Given the description of an element on the screen output the (x, y) to click on. 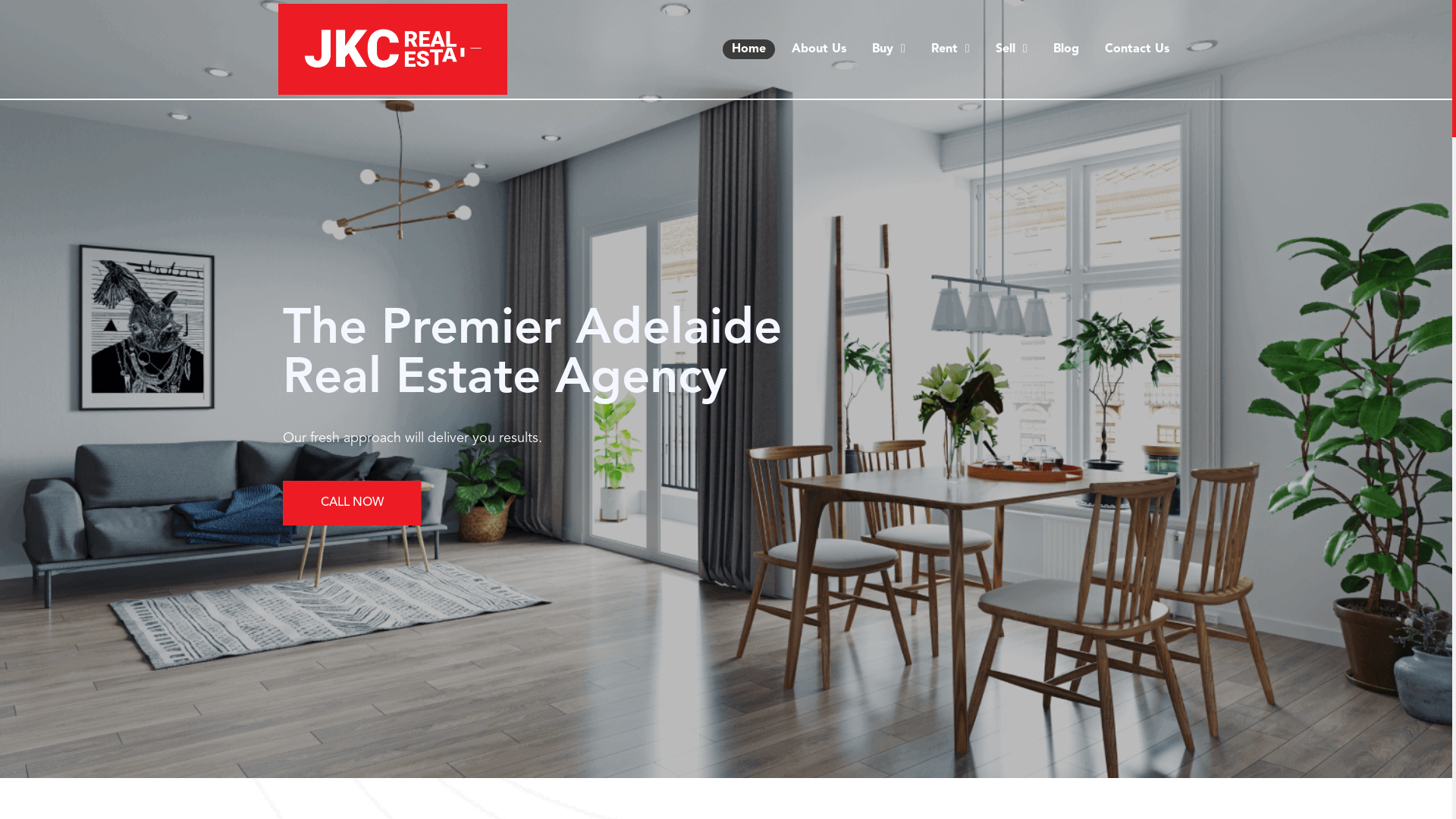
Rent Element type: text (950, 49)
About Us Element type: text (818, 49)
Contact Us Element type: text (1136, 49)
Buy Element type: text (888, 49)
CALL NOW Element type: text (351, 502)
Blog Element type: text (1066, 49)
Home Element type: text (748, 49)
Sell Element type: text (1011, 49)
